Given the description of an element on the screen output the (x, y) to click on. 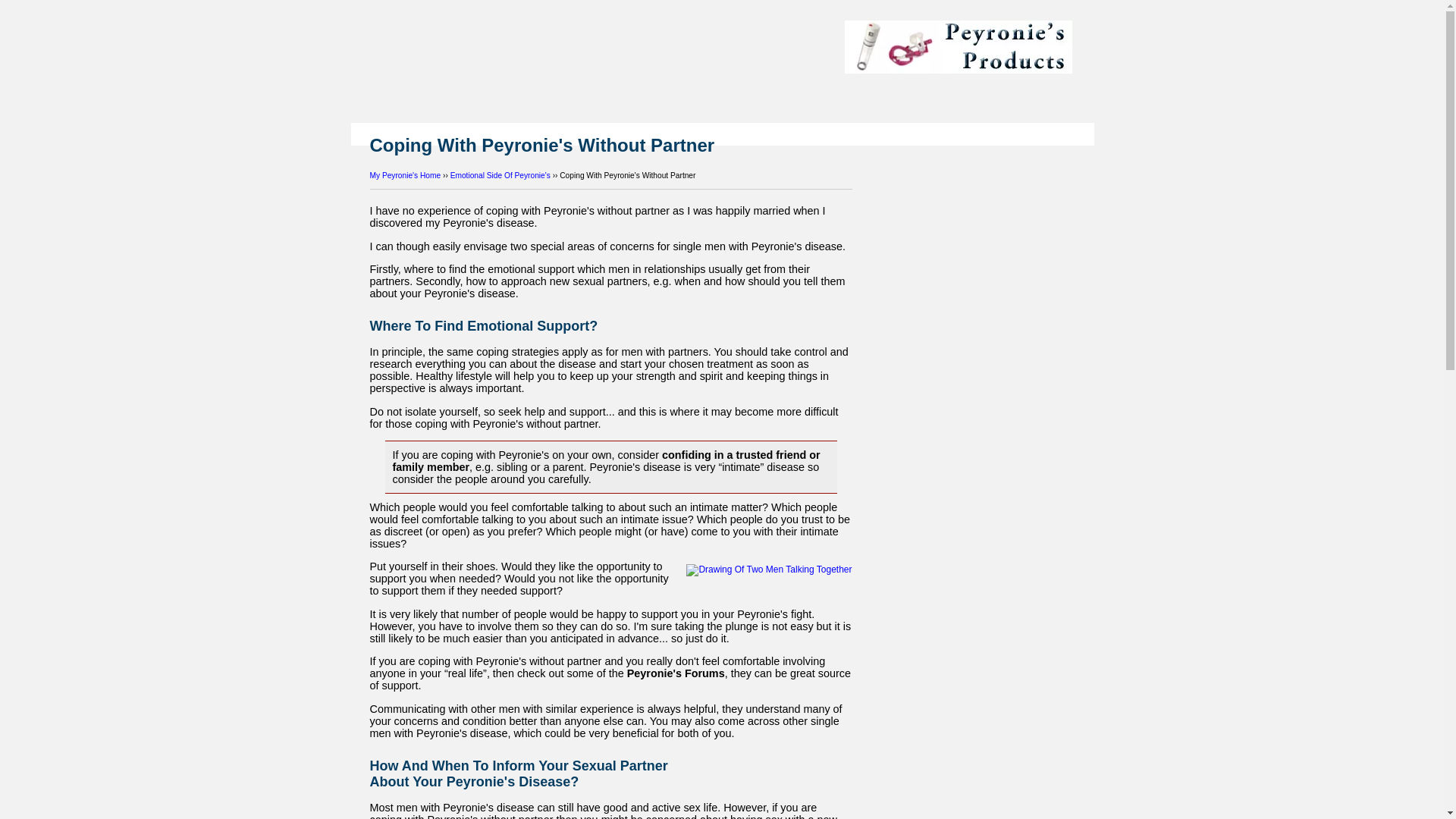
Emotional side of Peyronie's (499, 175)
My Peyronie'S Home (405, 175)
What is Peyronie's disease? (966, 48)
Home page (566, 50)
My Peyronie's home page (405, 175)
Emotional Side Of Peyronie'S (499, 175)
